Given the description of an element on the screen output the (x, y) to click on. 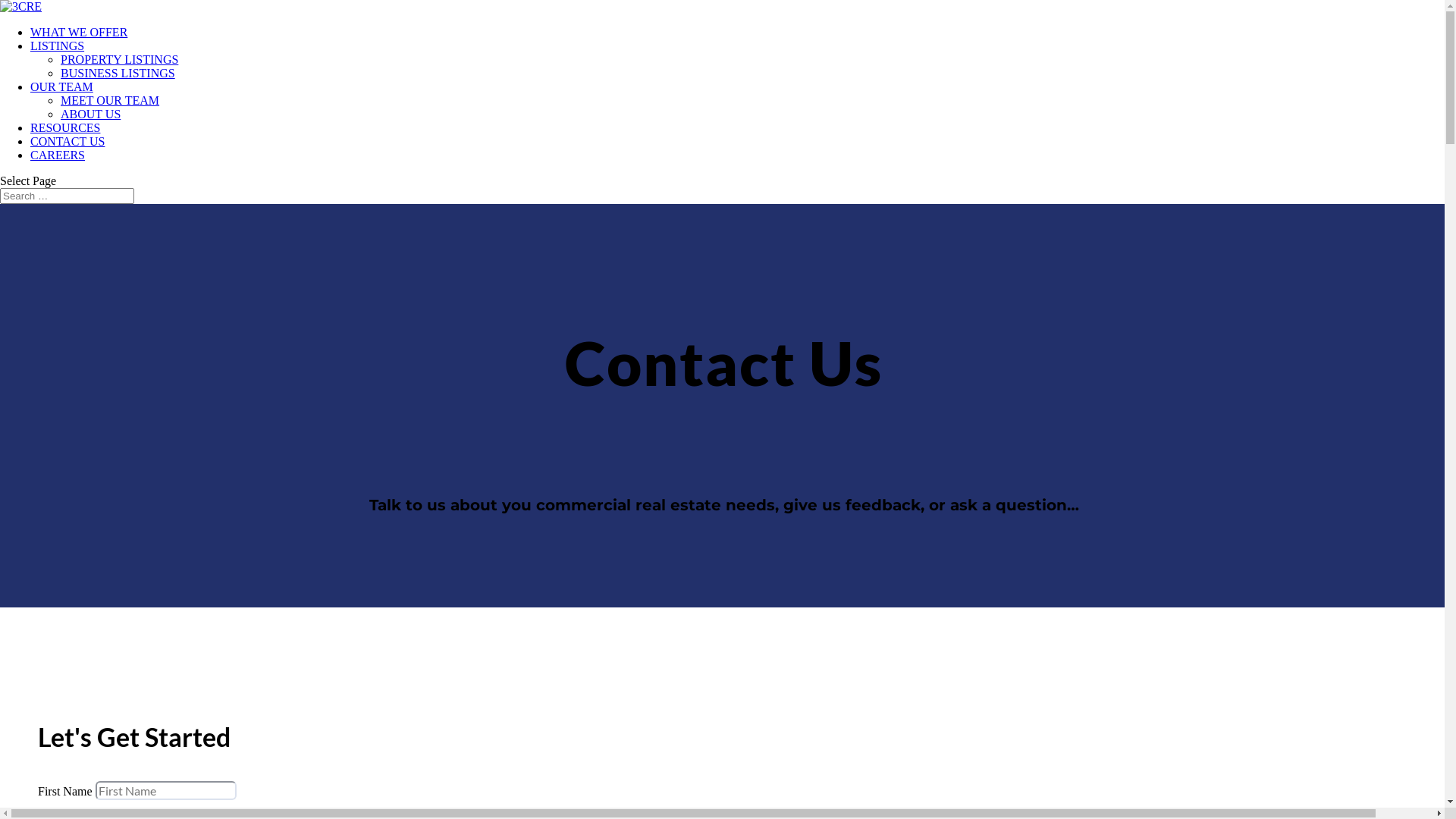
CONTACT US Element type: text (67, 140)
MEET OUR TEAM Element type: text (109, 100)
Search for: Element type: hover (67, 195)
RESOURCES Element type: text (65, 127)
PROPERTY LISTINGS Element type: text (119, 59)
BUSINESS LISTINGS Element type: text (117, 72)
OUR TEAM Element type: text (61, 86)
LISTINGS Element type: text (57, 45)
CAREERS Element type: text (57, 154)
ABOUT US Element type: text (90, 113)
WHAT WE OFFER Element type: text (78, 31)
